Given the description of an element on the screen output the (x, y) to click on. 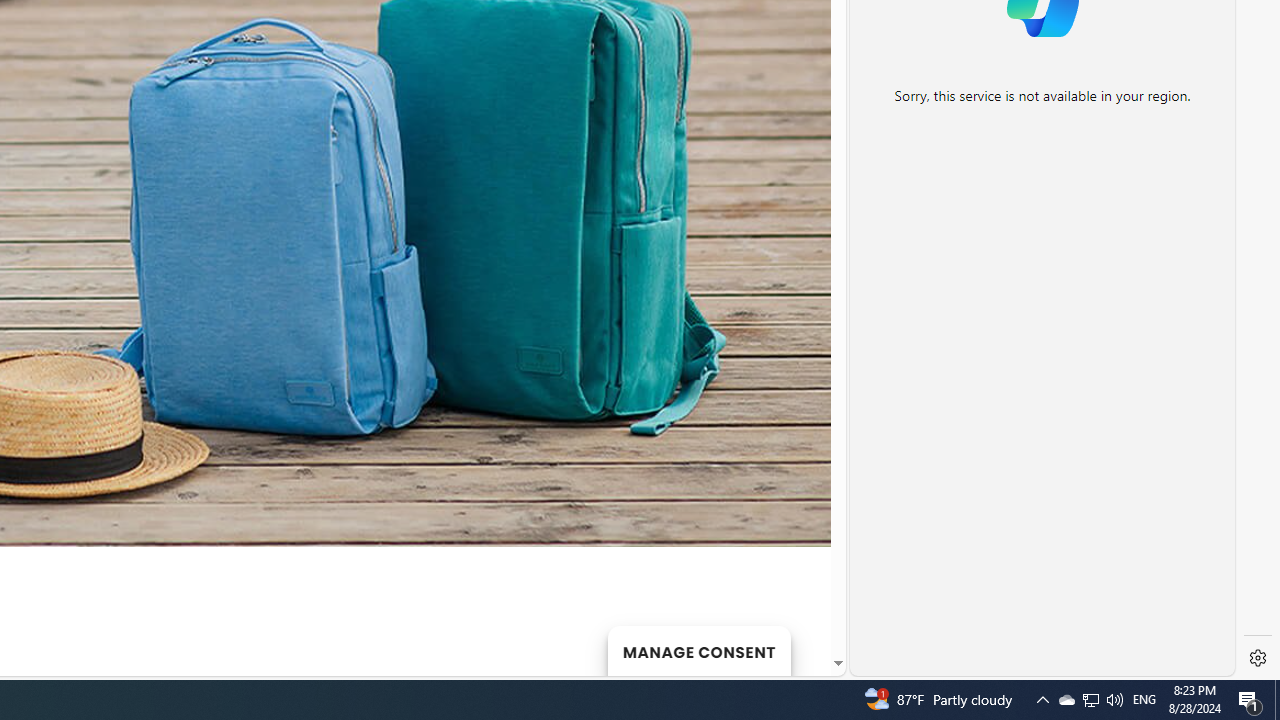
Settings (1258, 658)
MANAGE CONSENT (698, 650)
